Given the description of an element on the screen output the (x, y) to click on. 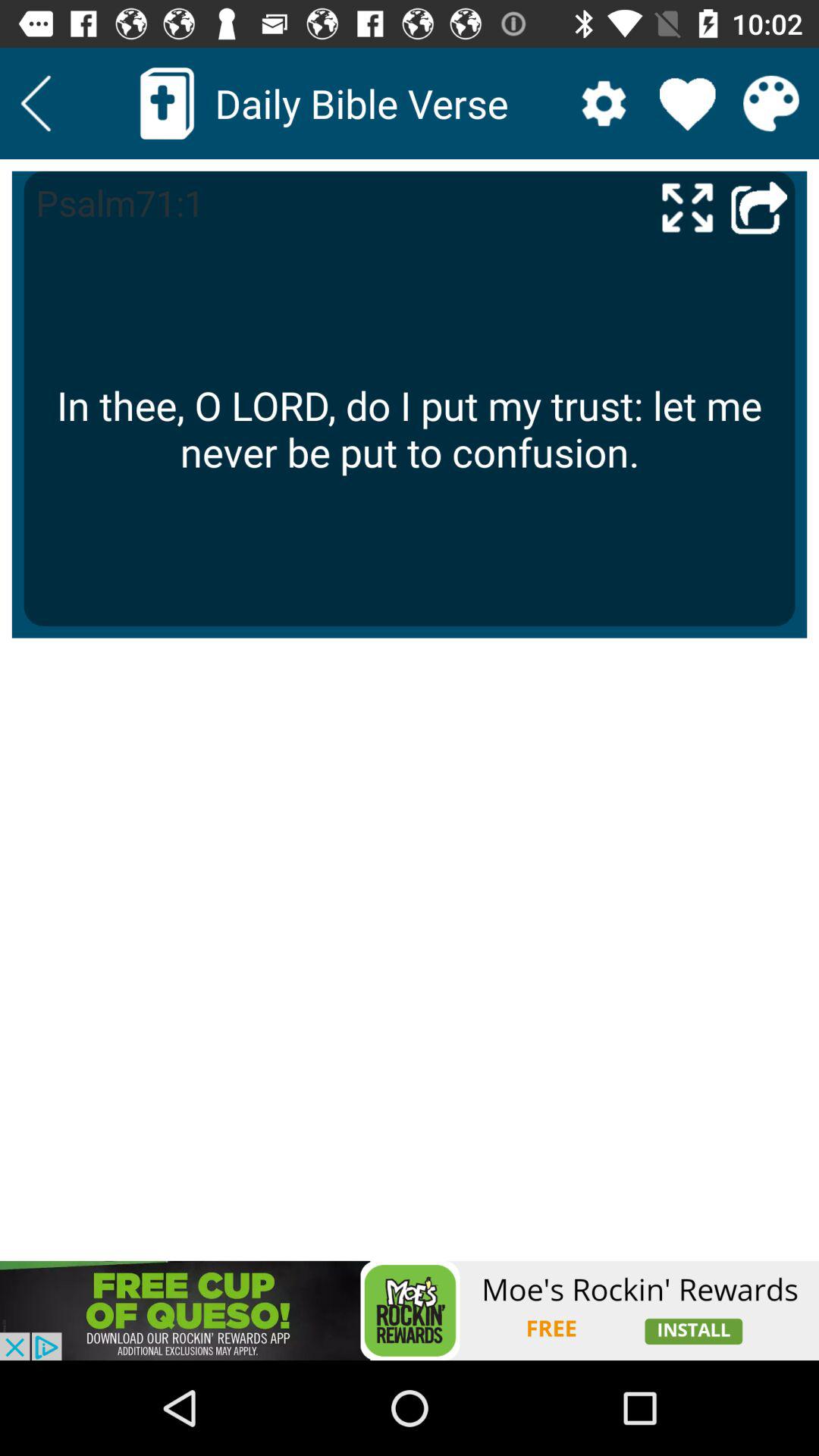
go to previous (759, 206)
